Given the description of an element on the screen output the (x, y) to click on. 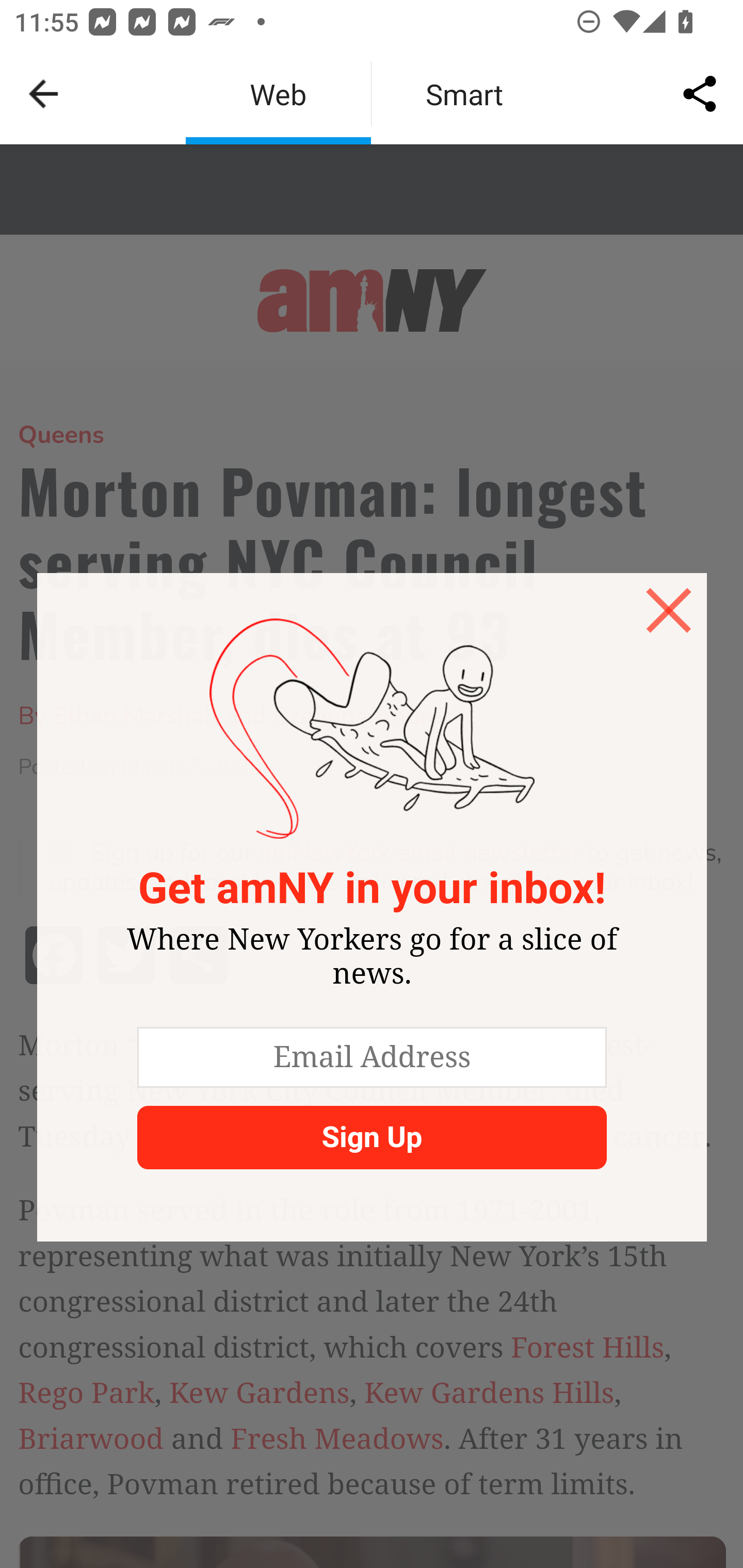
Web (277, 93)
Smart (464, 93)
Sign Up (371, 1137)
